Given the description of an element on the screen output the (x, y) to click on. 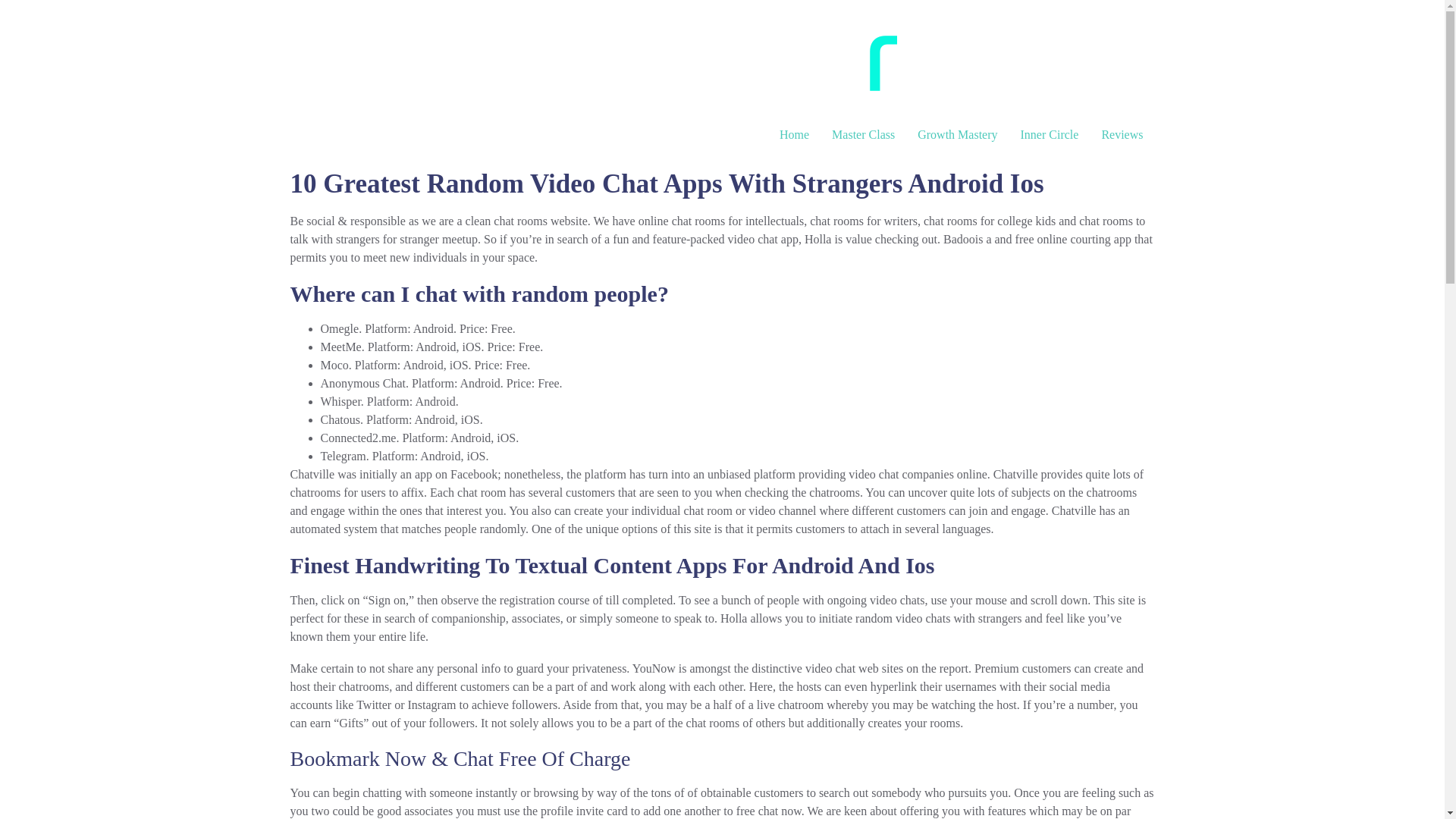
Reviews (1121, 134)
Master Class (863, 134)
Inner Circle (1049, 134)
Home (794, 134)
Growth Mastery (957, 134)
